Given the description of an element on the screen output the (x, y) to click on. 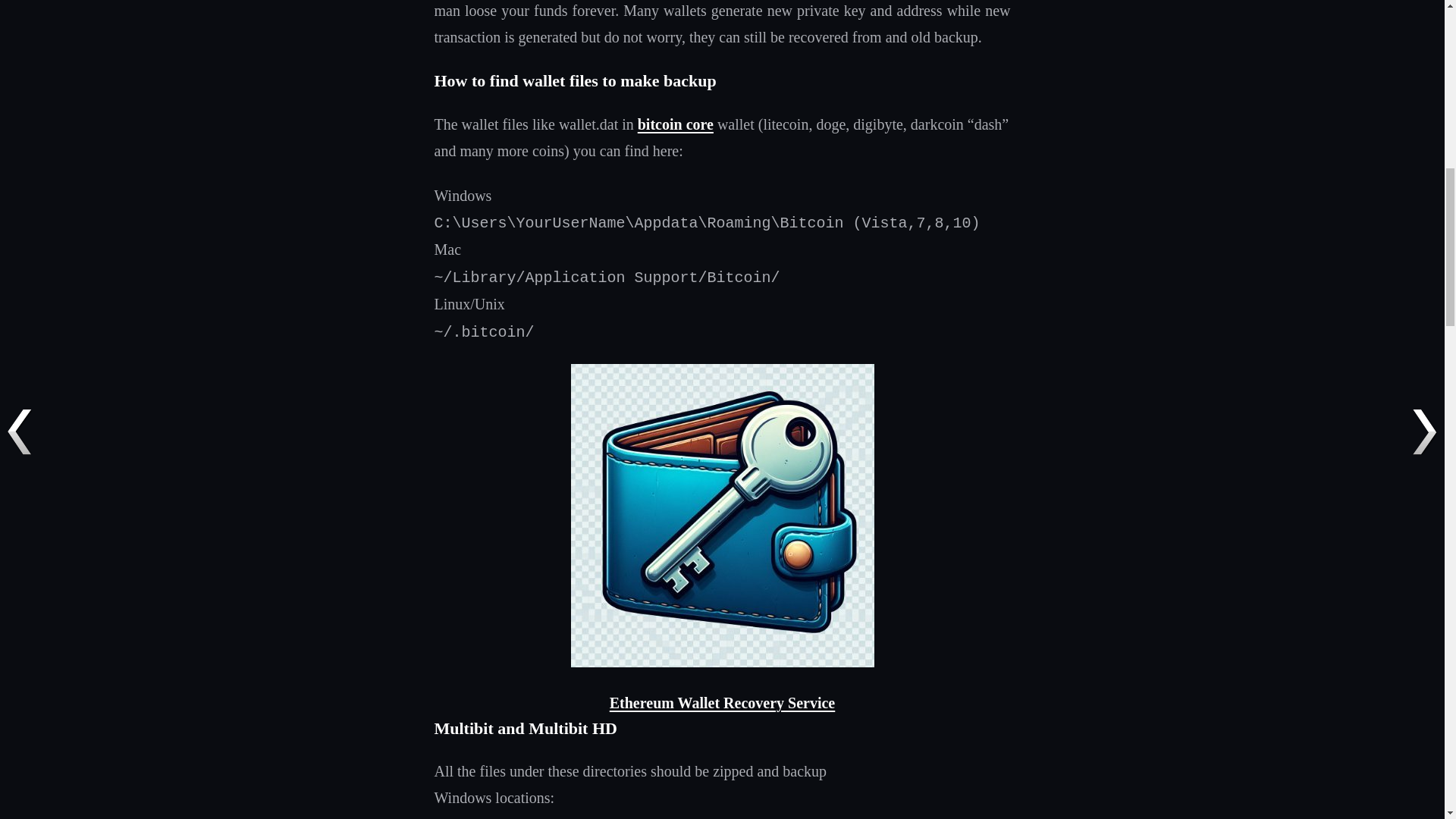
Ethereum Wallet Recovery Service (722, 702)
bitcoin core (675, 124)
